Given the description of an element on the screen output the (x, y) to click on. 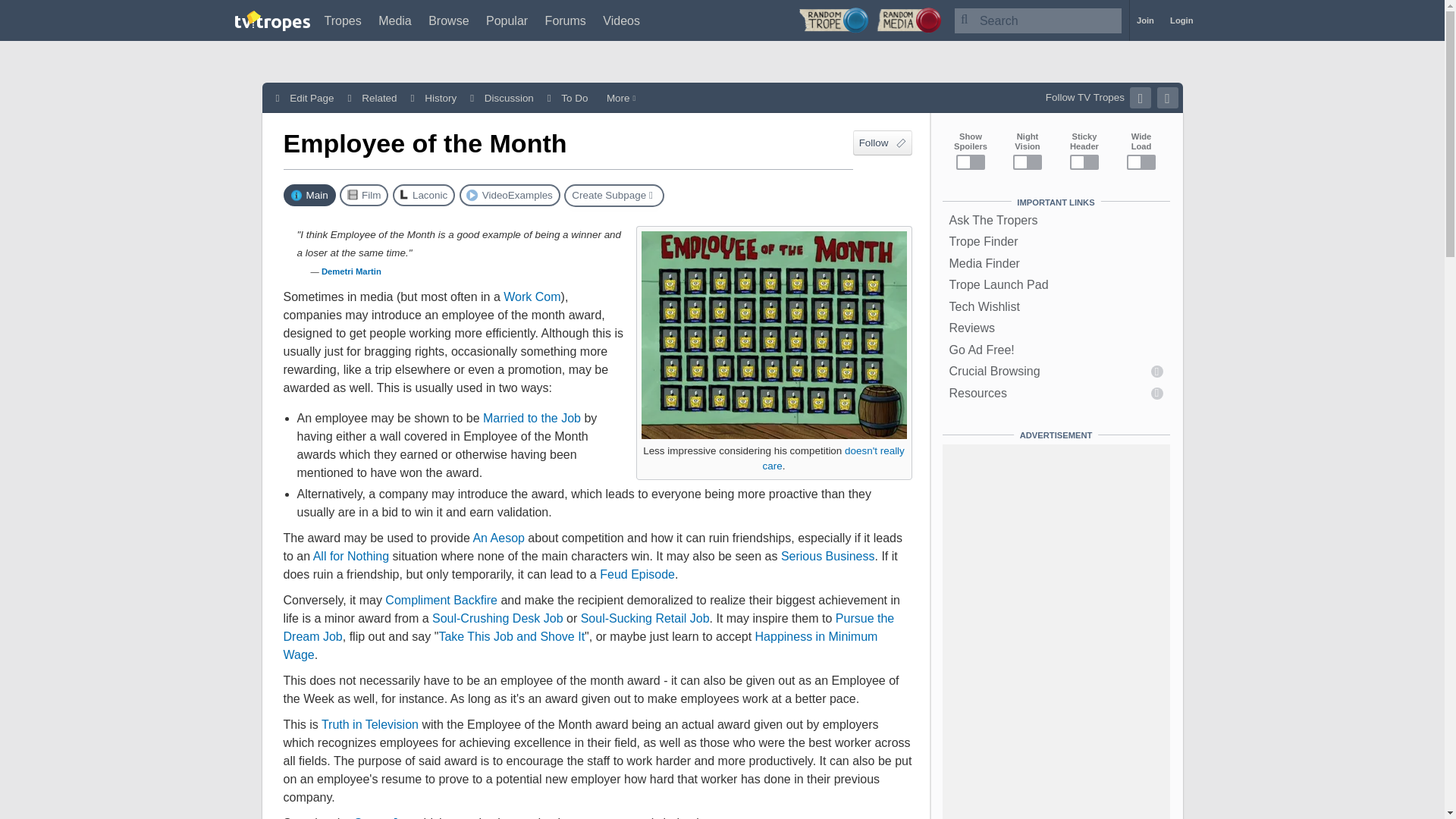
Browse (448, 20)
Media (395, 20)
Video Examples (510, 195)
The Main page (309, 195)
Popular (506, 20)
The Film page (363, 195)
Login (1181, 20)
The Laconic page (423, 195)
Tropes (342, 20)
Forums (565, 20)
Videos (621, 20)
